Given the description of an element on the screen output the (x, y) to click on. 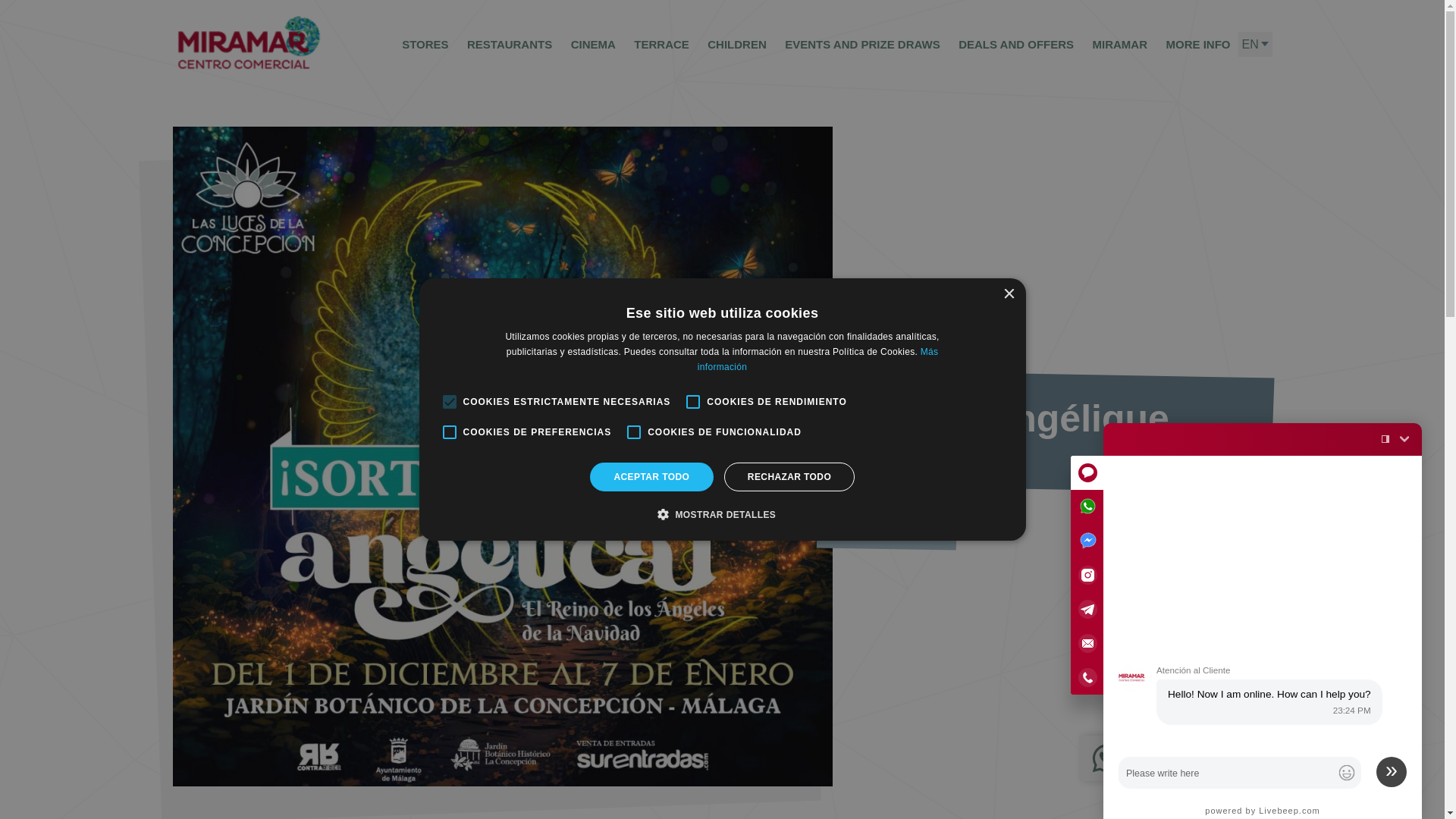
May I help you? (1262, 626)
Minimize (1403, 438)
CHILDREN (737, 44)
Logo Website Title and Alt (248, 42)
CINEMA (593, 44)
Fit to Screen (1384, 438)
EVENTS AND PRIZE DRAWS (862, 44)
MIRAMAR (1120, 44)
TERRACE (661, 44)
MORE INFO (1198, 44)
DEALS AND OFFERS (1015, 44)
STORES (424, 44)
Livebeep (1262, 809)
RESTAURANTS (509, 44)
